Given the description of an element on the screen output the (x, y) to click on. 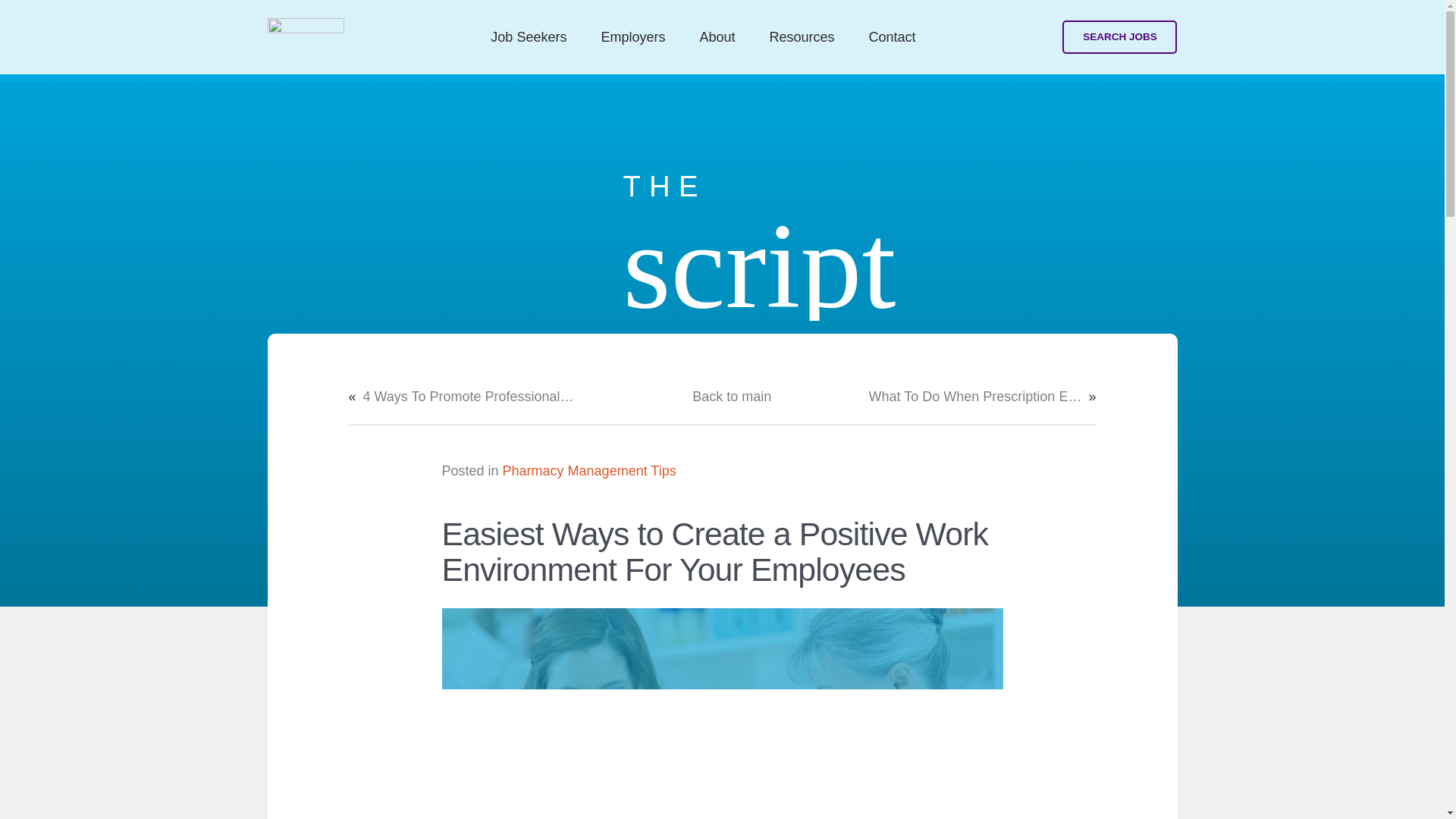
SEARCH JOBS (1119, 37)
Back to main (732, 395)
Job Seekers (528, 37)
Contact (892, 37)
Employers (632, 37)
What To Do When Prescription Errors Happen (975, 395)
Resources (801, 37)
Pharmacy Management Tips (589, 470)
About (717, 37)
